Given the description of an element on the screen output the (x, y) to click on. 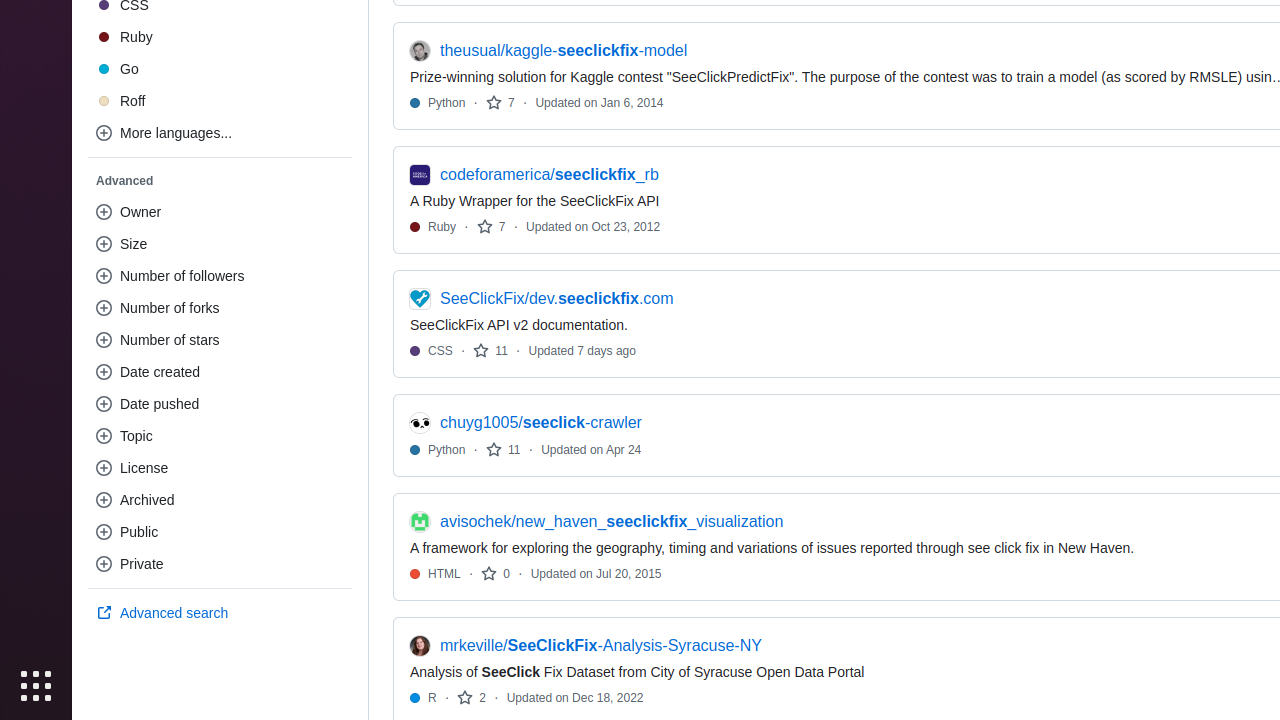
‎Topic‎ Element type: push-button (220, 436)
‎License‎ Element type: push-button (220, 468)
‎Number of followers‎ Element type: push-button (220, 276)
